Given the description of an element on the screen output the (x, y) to click on. 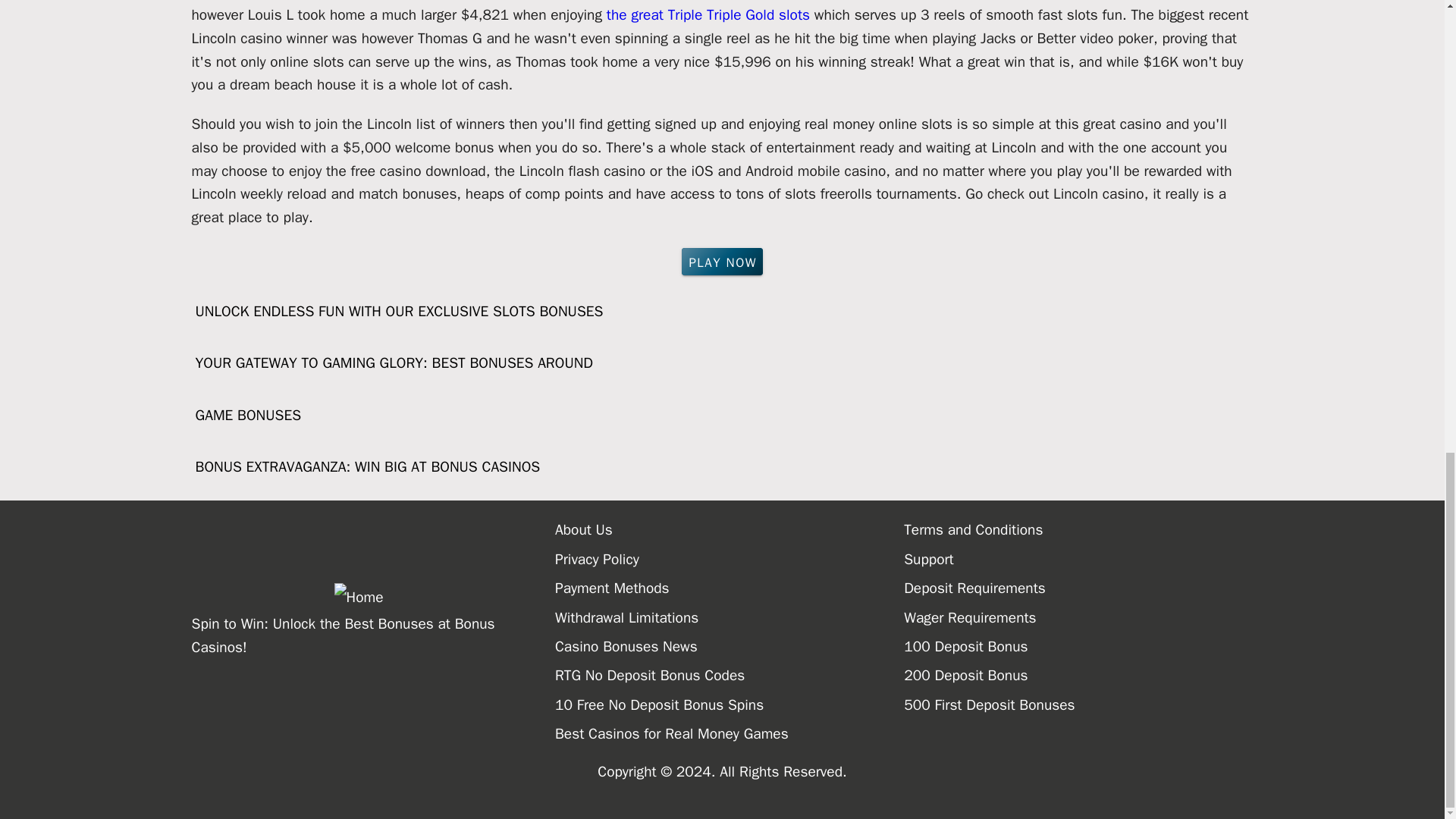
the great Triple Triple Gold slots (708, 14)
PLAY NOW (721, 261)
200 Deposit Bonus (1078, 675)
Support (1078, 559)
About Us (729, 529)
Wager Requirements (1078, 617)
Deposit Requirements (1078, 588)
10 Free No Deposit Bonus Spins (729, 705)
RTG No Deposit Bonus Codes (729, 675)
